Given the description of an element on the screen output the (x, y) to click on. 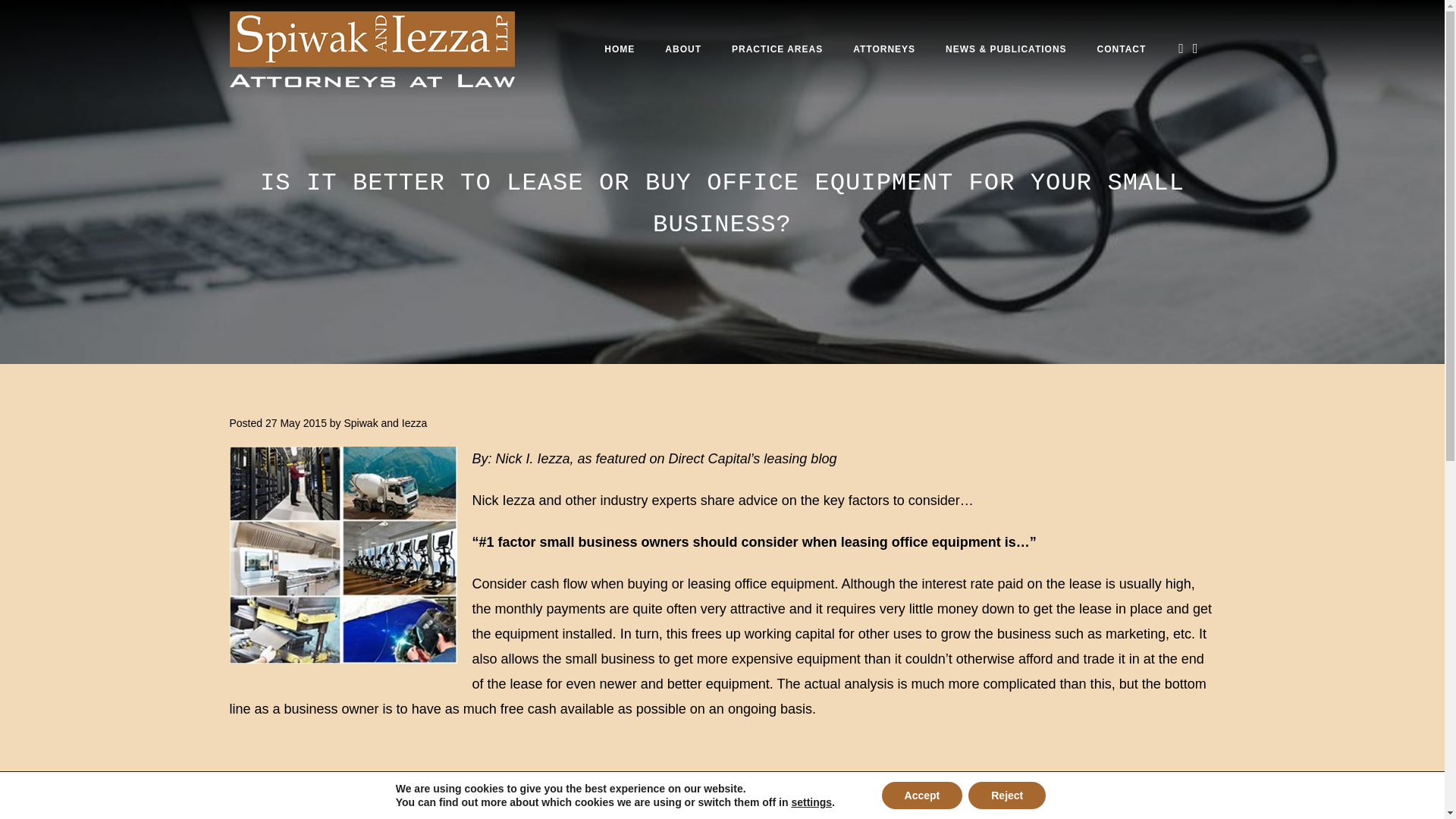
ABOUT (682, 49)
HOME (619, 49)
ATTORNEYS (884, 49)
CONTACT (1121, 49)
PRACTICE AREAS (777, 49)
